Given the description of an element on the screen output the (x, y) to click on. 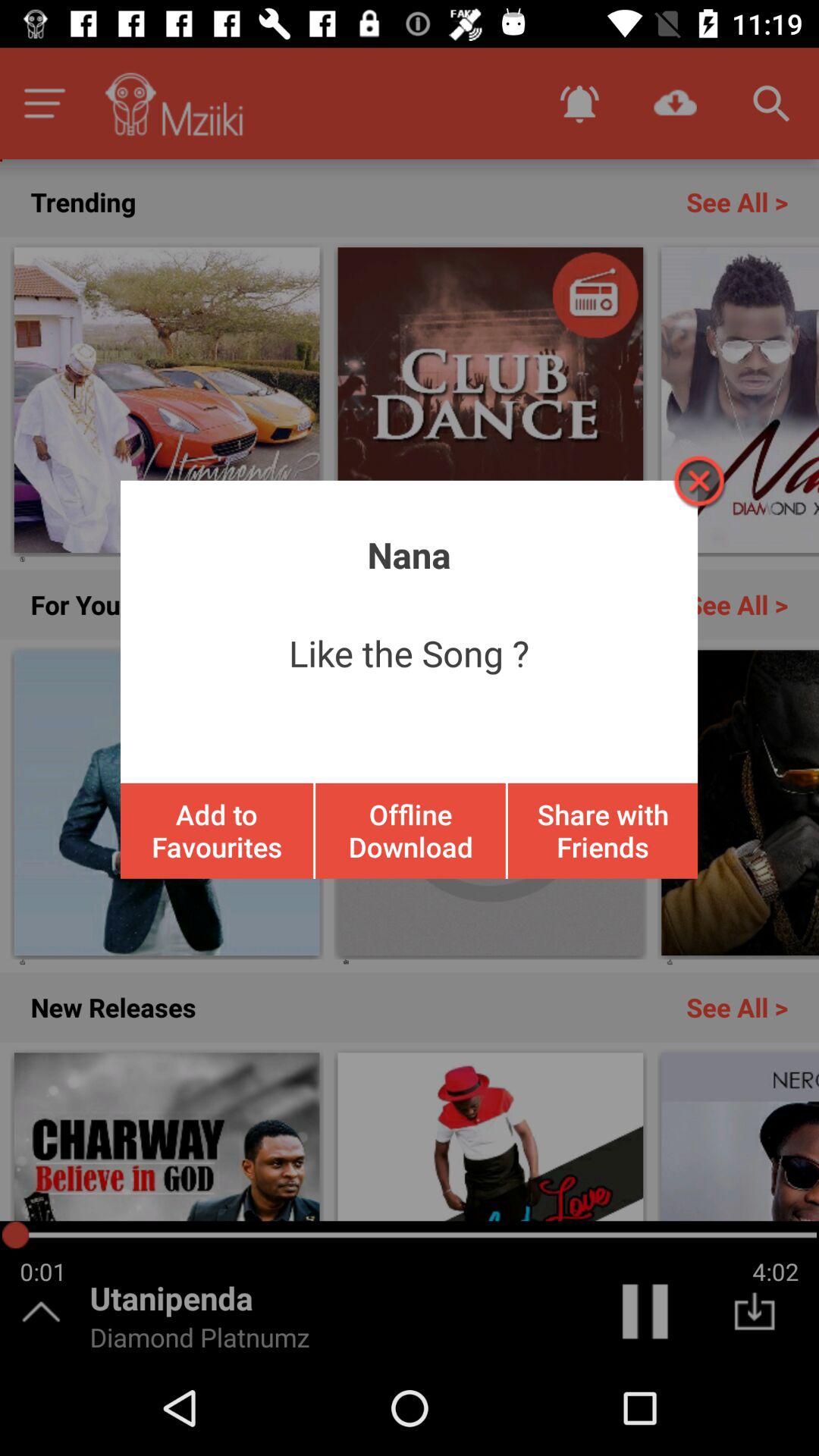
close window (698, 480)
